Given the description of an element on the screen output the (x, y) to click on. 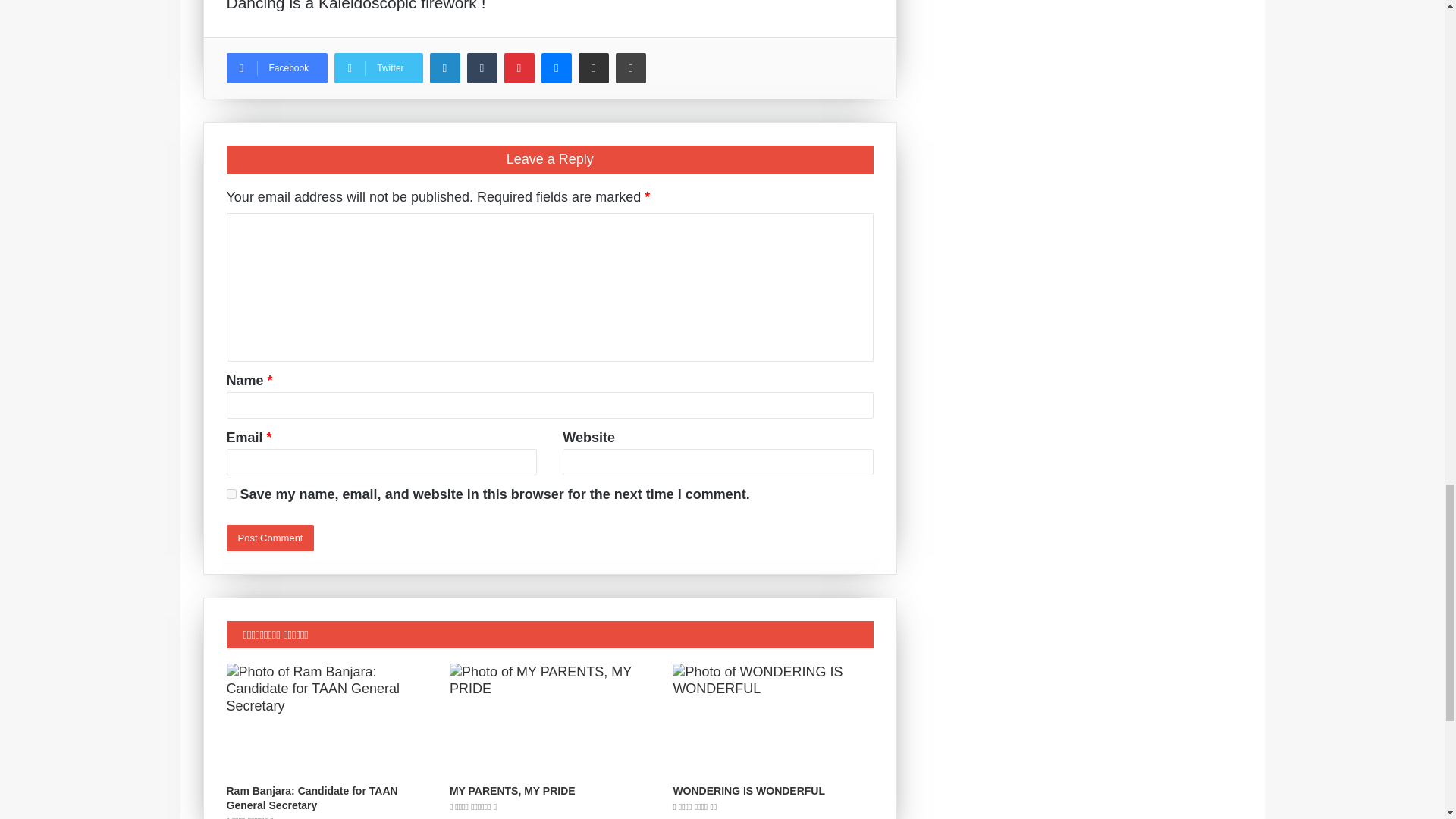
LinkedIn (444, 68)
Print (630, 68)
Messenger (556, 68)
Tumblr (482, 68)
Twitter (378, 68)
yes (230, 493)
Post Comment (269, 537)
Tumblr (482, 68)
Facebook (276, 68)
Facebook (276, 68)
Pinterest (518, 68)
Pinterest (518, 68)
Twitter (378, 68)
Messenger (556, 68)
LinkedIn (444, 68)
